Given the description of an element on the screen output the (x, y) to click on. 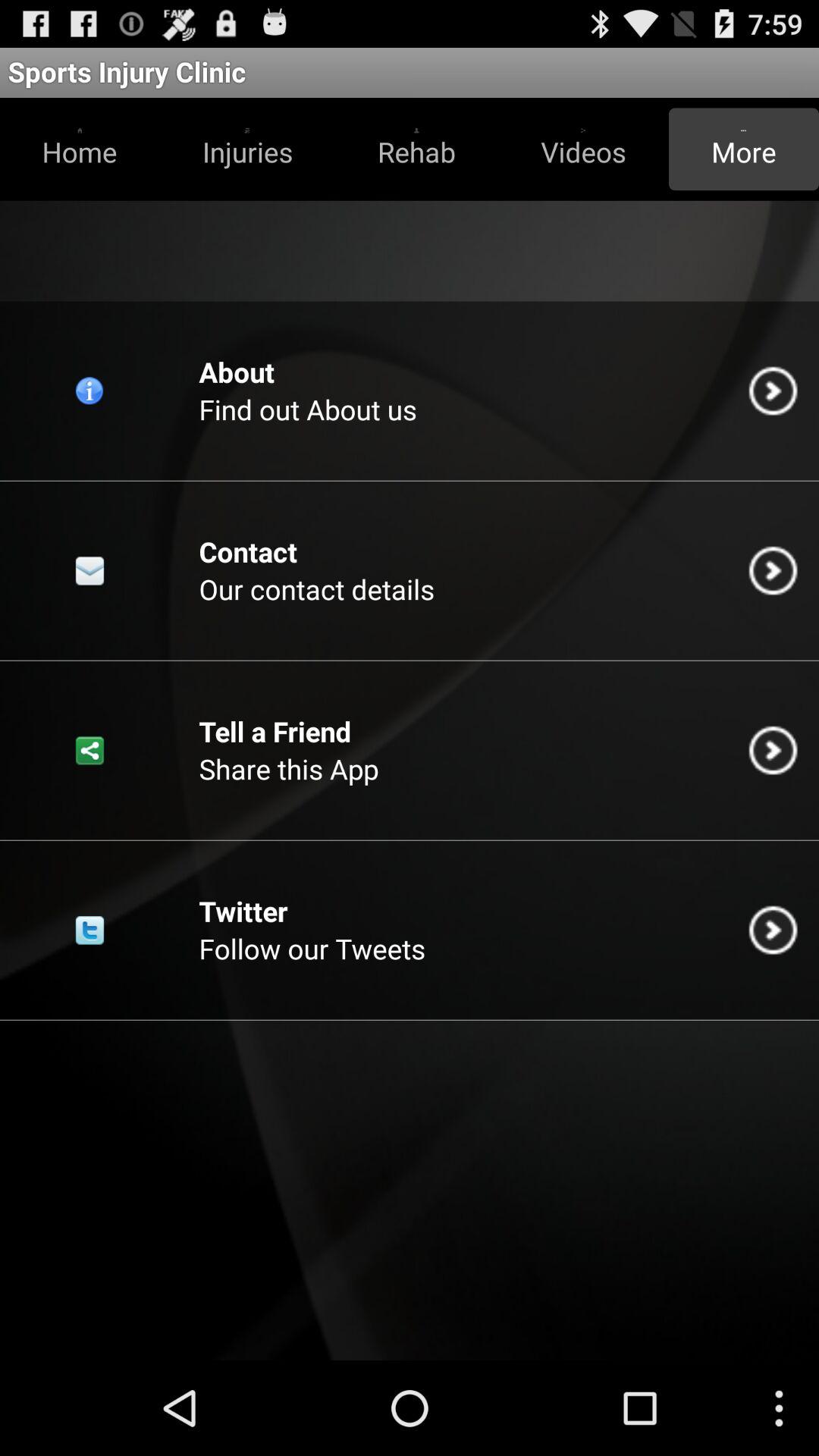
click item above contact app (307, 409)
